Given the description of an element on the screen output the (x, y) to click on. 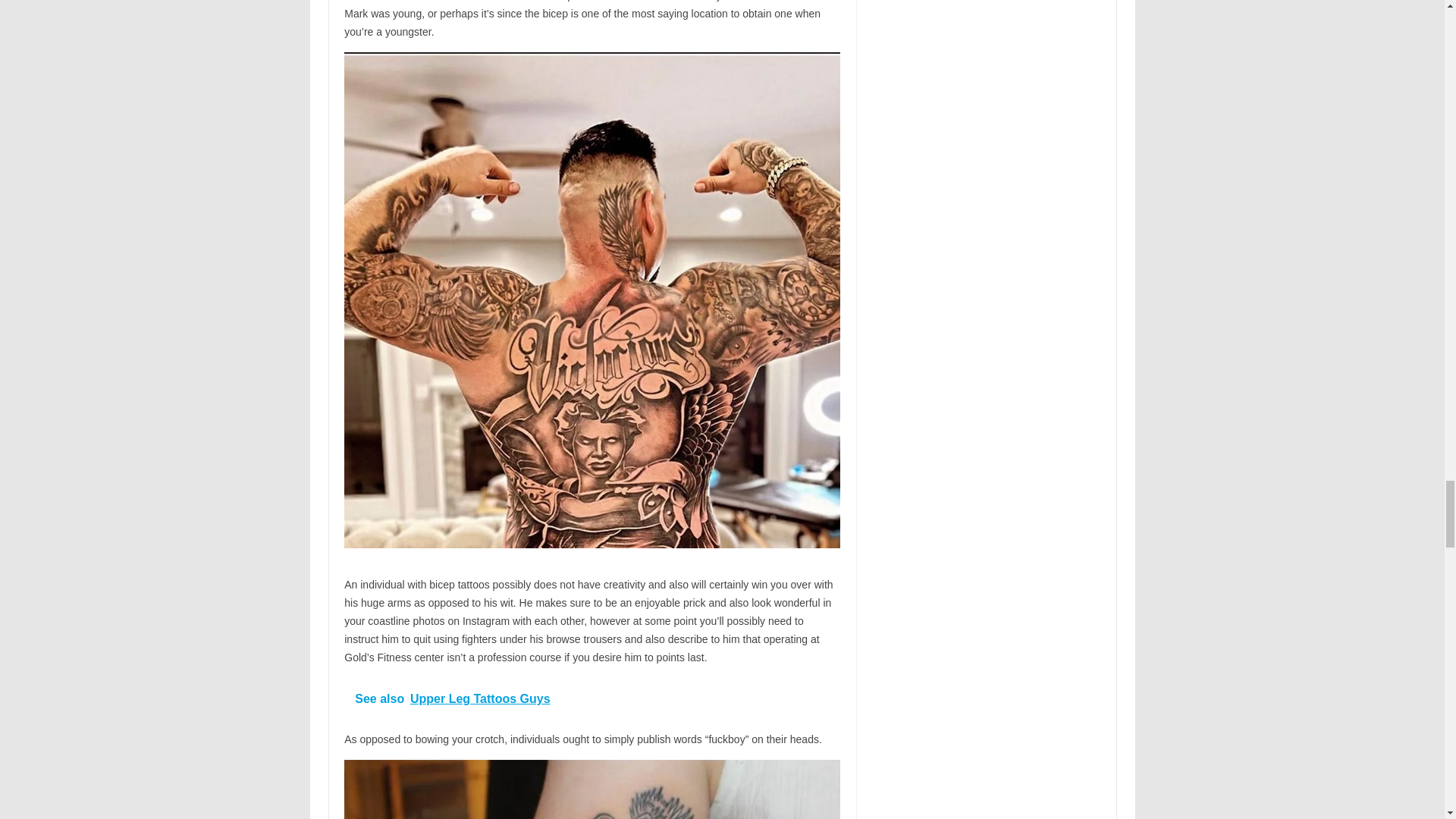
See also  Upper Leg Tattoos Guys (591, 698)
Men Butt Tattoo (591, 789)
